Given the description of an element on the screen output the (x, y) to click on. 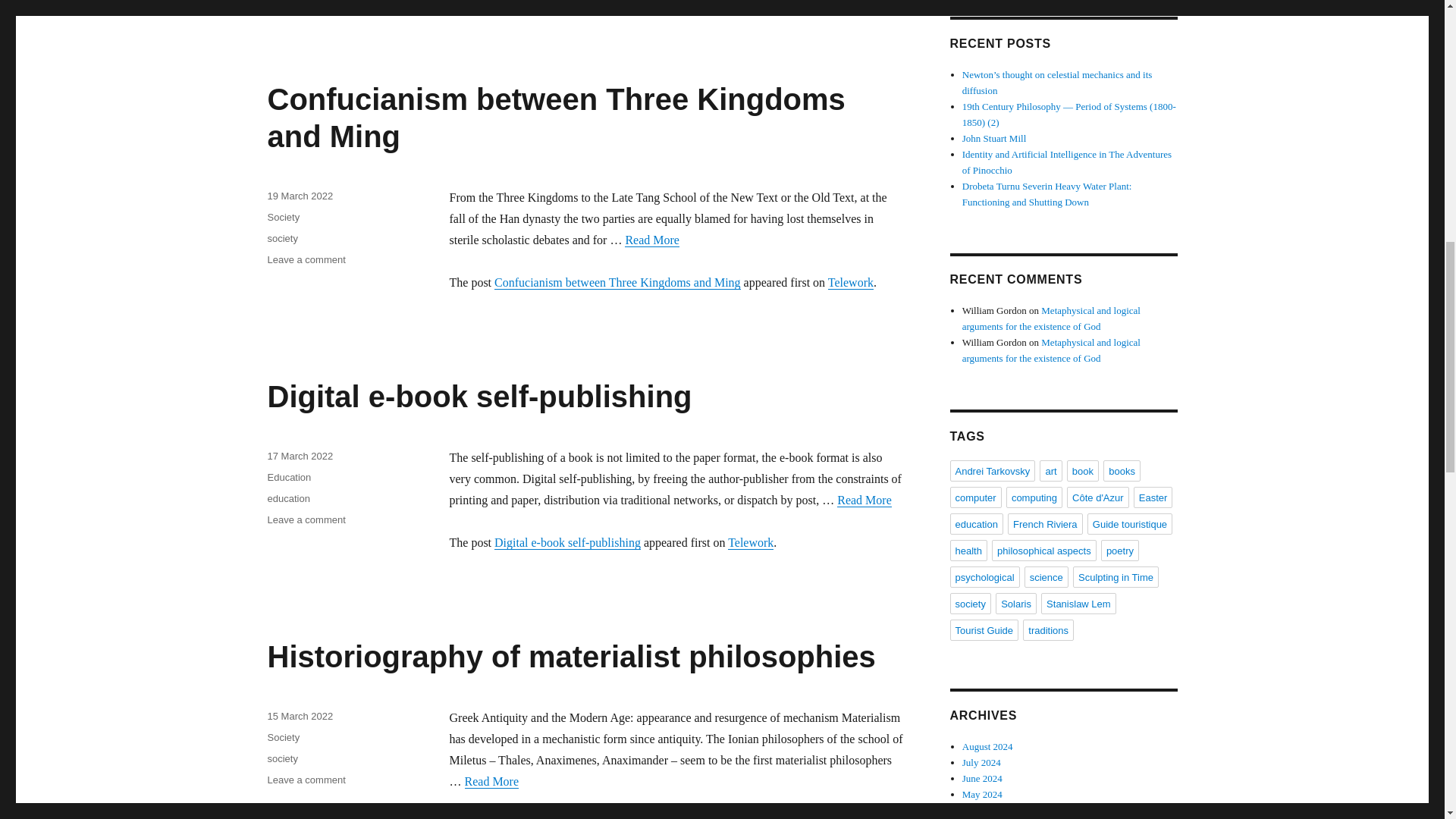
Digital e-book self-publishing (478, 396)
Read More (864, 499)
society (281, 238)
Read More (651, 239)
Telework (750, 542)
Confucianism between Three Kingdoms and Ming (555, 117)
17 March 2022 (299, 455)
Education (288, 477)
Telework (850, 282)
